Given the description of an element on the screen output the (x, y) to click on. 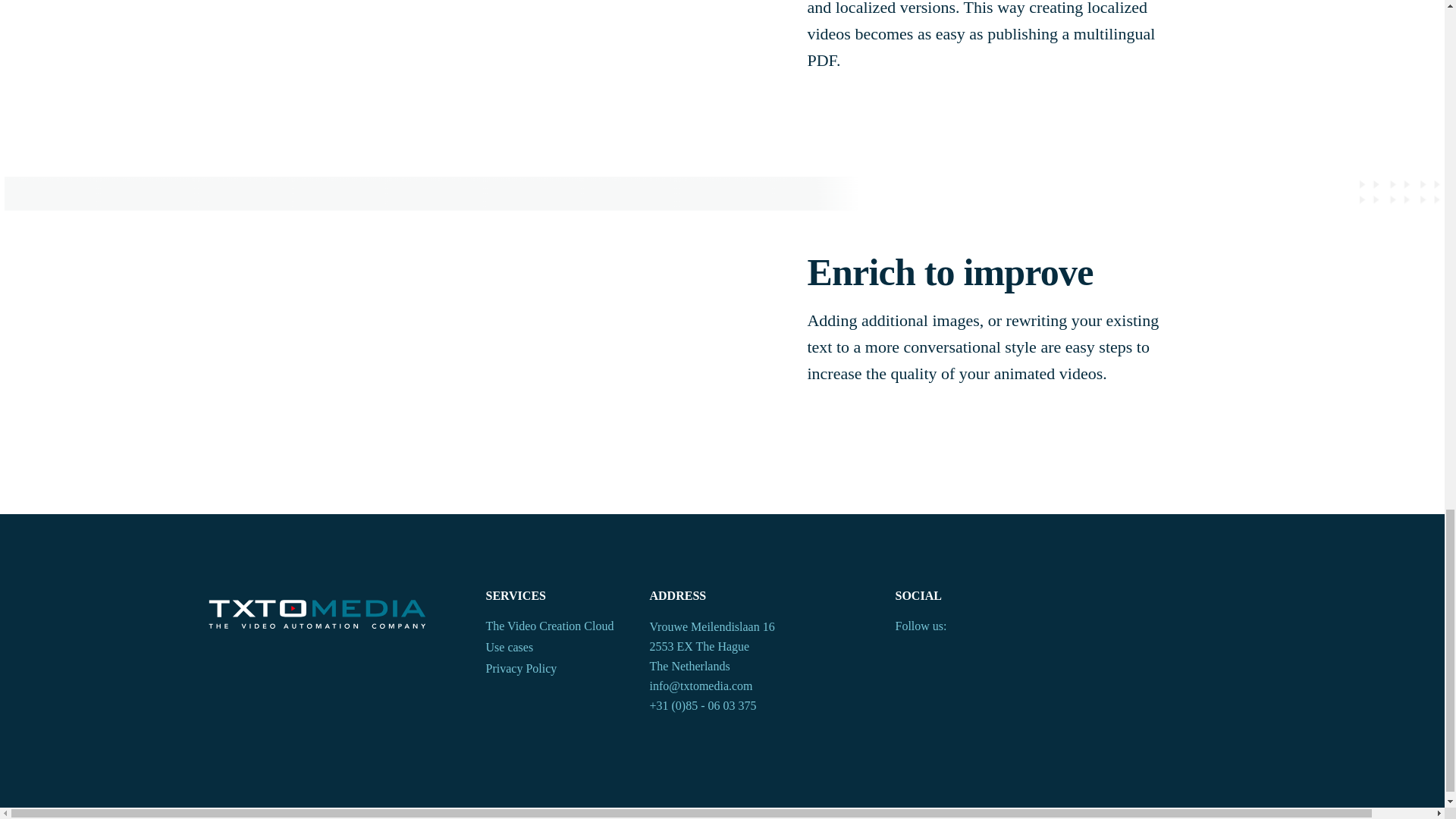
Use cases (557, 649)
The Video Creation Cloud (557, 627)
Follow us: (920, 627)
Privacy Policy (557, 670)
